Given the description of an element on the screen output the (x, y) to click on. 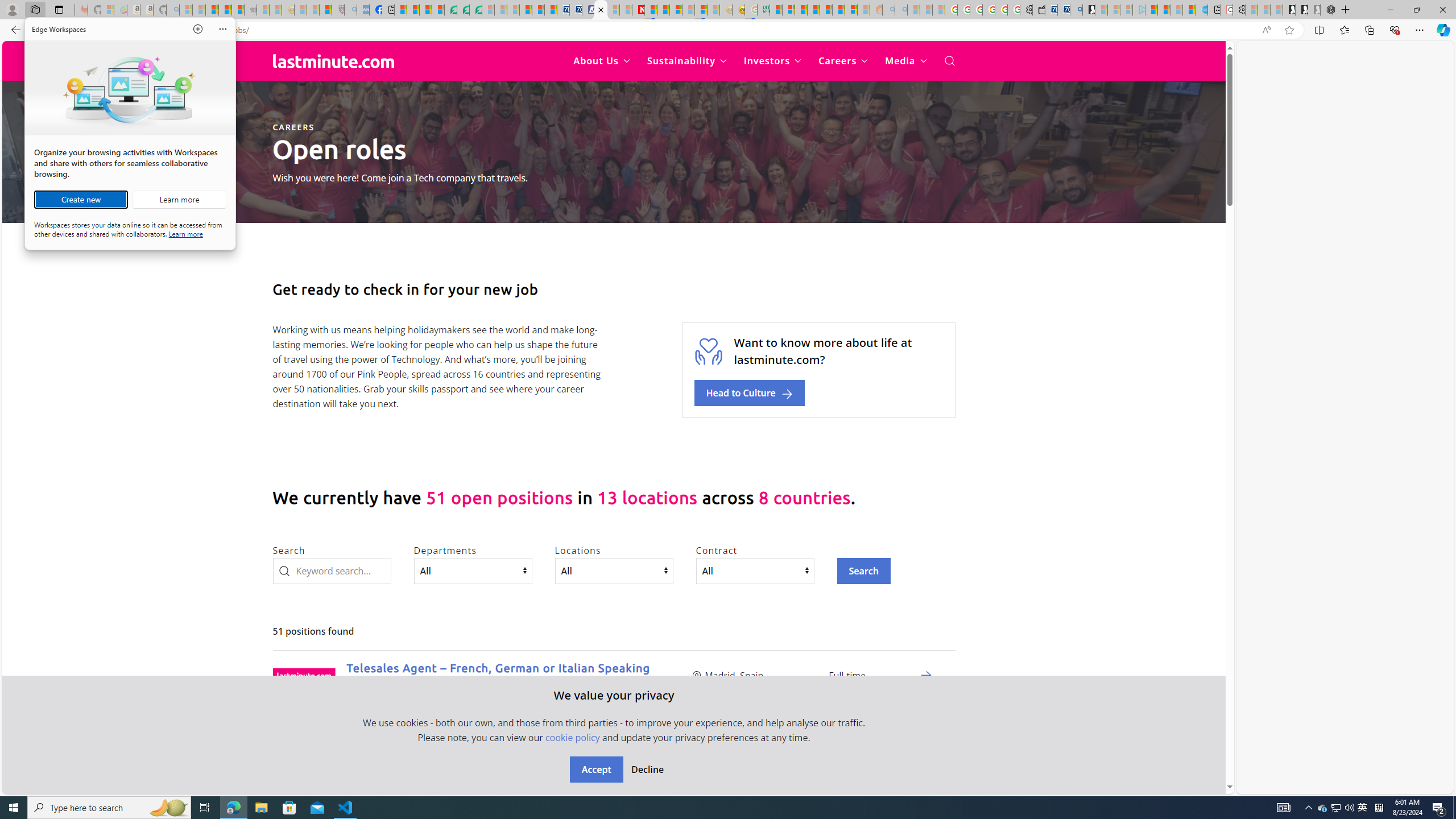
Investors (773, 60)
Departments (472, 570)
Sustainability (686, 60)
Student Loan Update: Forgiveness Program Ends This Month (813, 9)
